Given the description of an element on the screen output the (x, y) to click on. 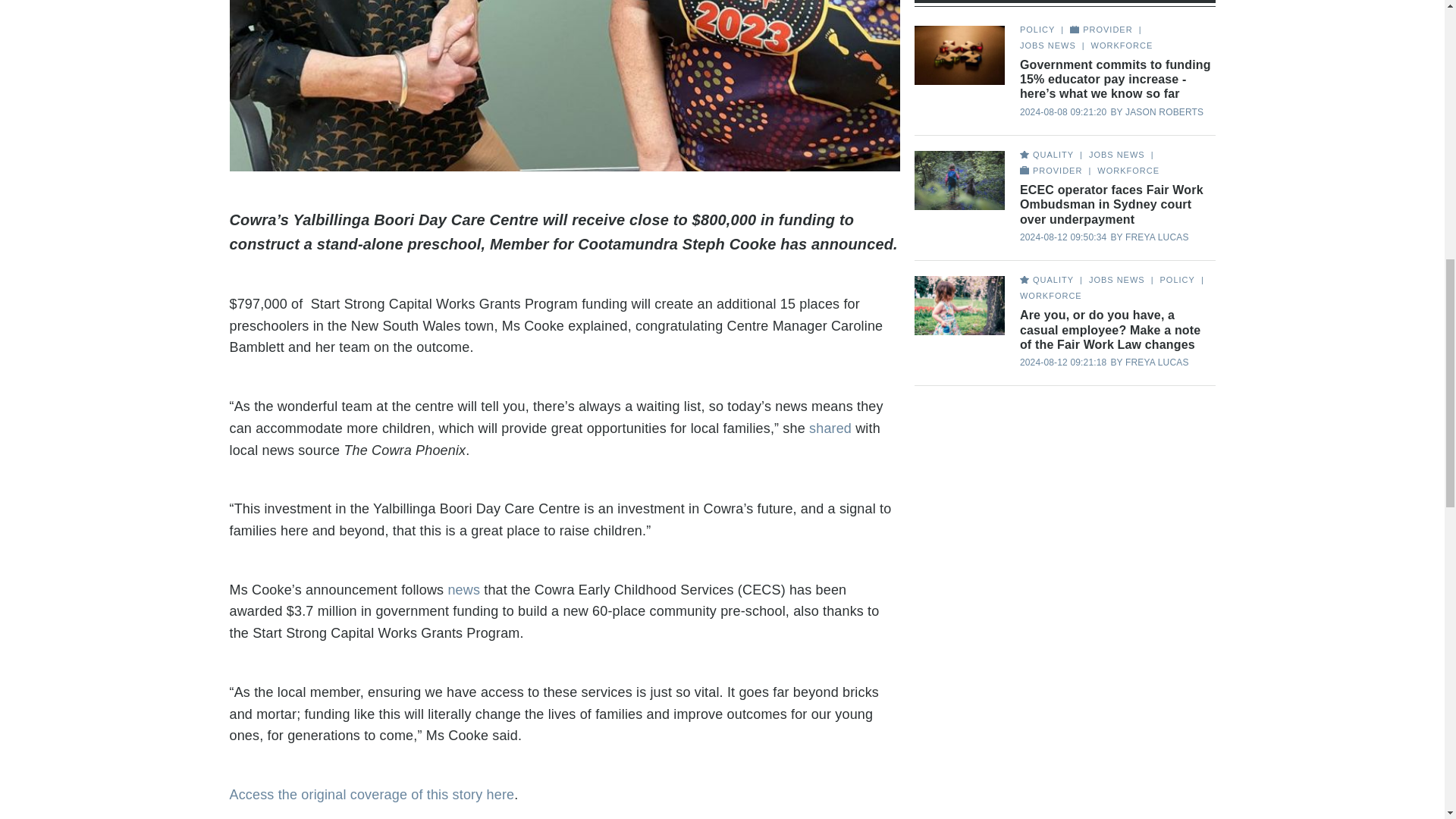
Access the original coverage of this story here (370, 794)
news (463, 589)
shared (830, 427)
